Given the description of an element on the screen output the (x, y) to click on. 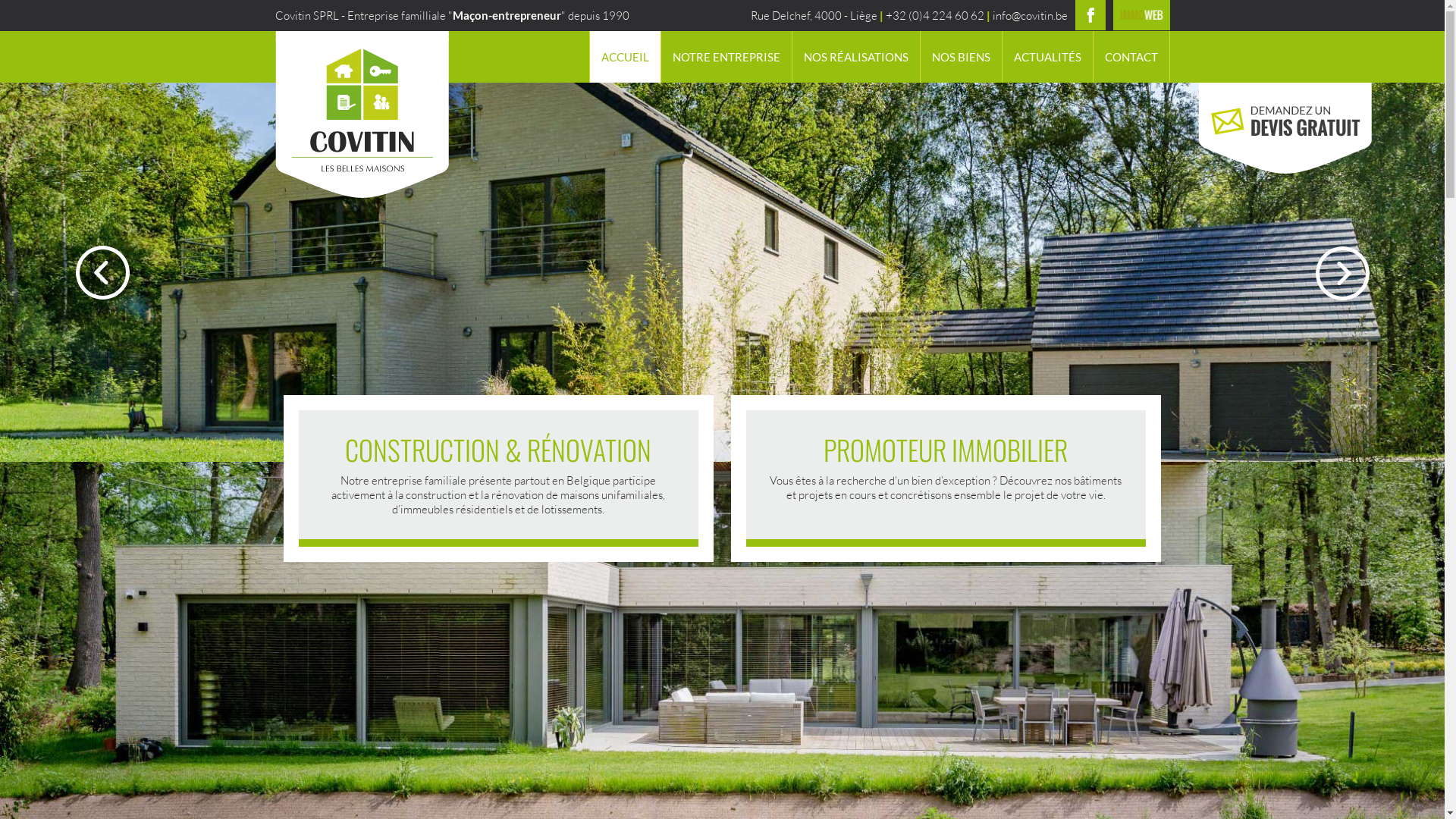
NOS BIENS Element type: text (960, 56)
NOTRE ENTREPRISE Element type: text (724, 56)
CONTACT Element type: text (1130, 56)
Covitin SPRL - Les belles maisons Element type: text (361, 114)
ACCUEIL Element type: text (623, 56)
Demandez un devis gratuit Element type: text (1285, 127)
